Given the description of an element on the screen output the (x, y) to click on. 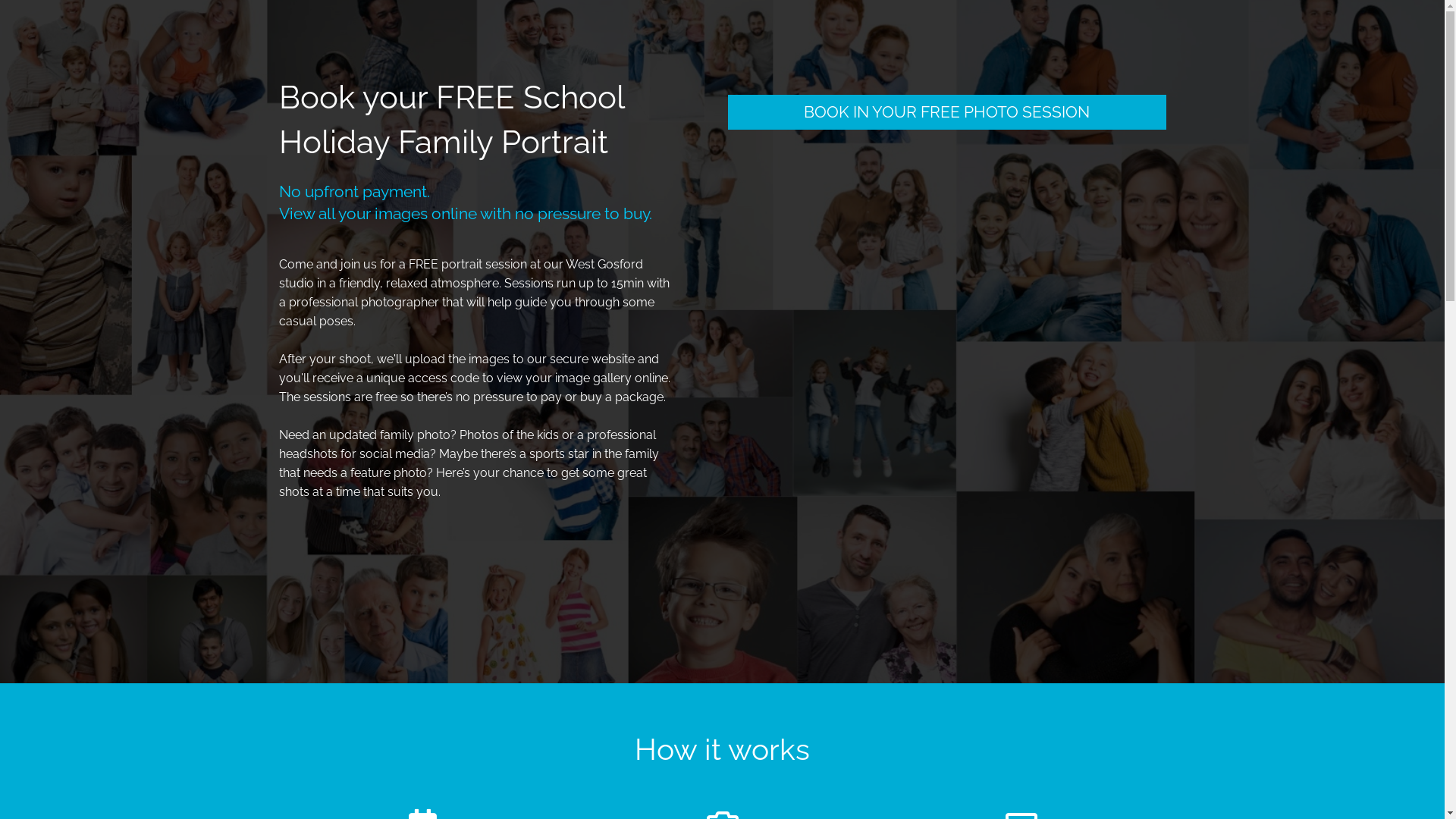
Select a Date & Time - Calendly Element type: hover (947, 368)
